Given the description of an element on the screen output the (x, y) to click on. 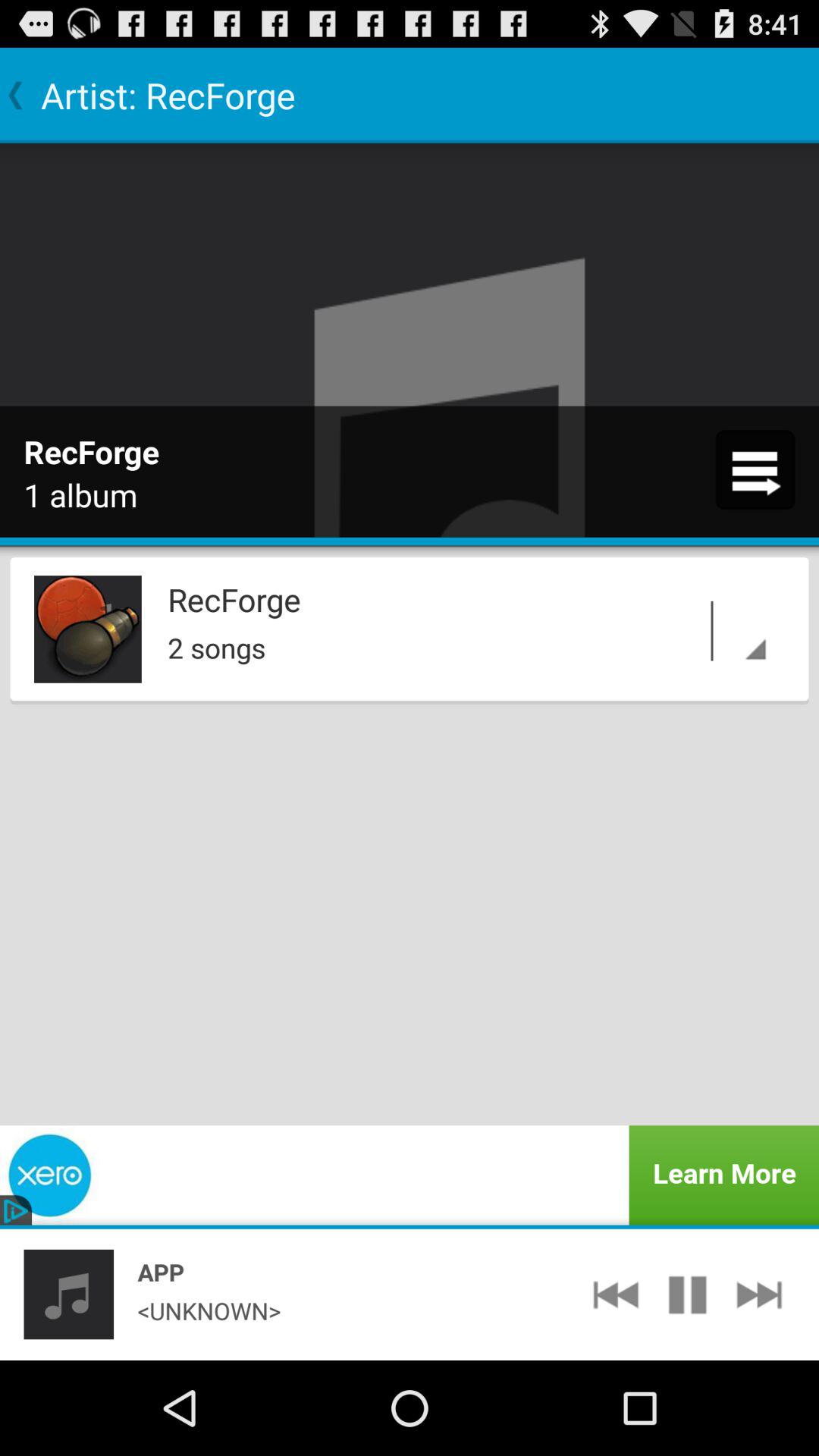
launch the icon next to <unknown> (615, 1294)
